Given the description of an element on the screen output the (x, y) to click on. 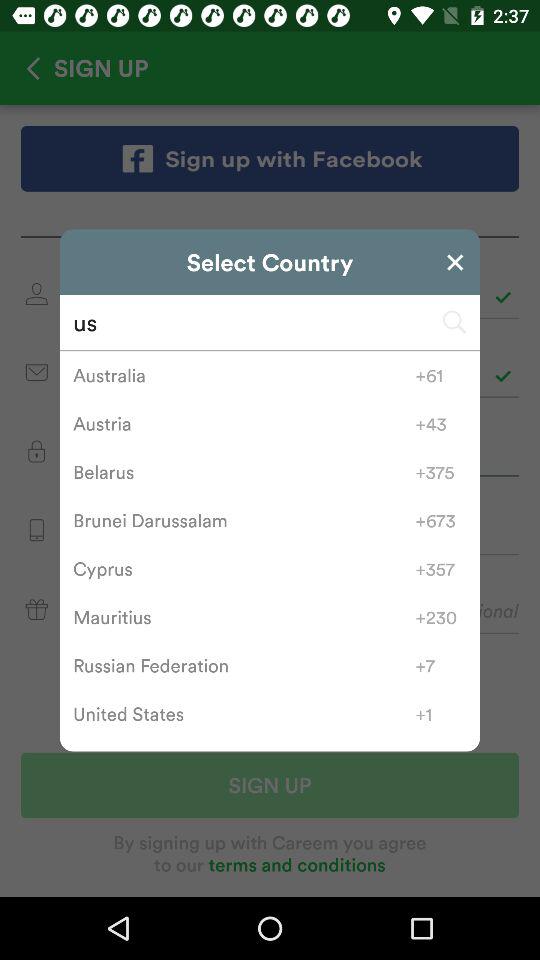
select the belarus item (244, 472)
